Given the description of an element on the screen output the (x, y) to click on. 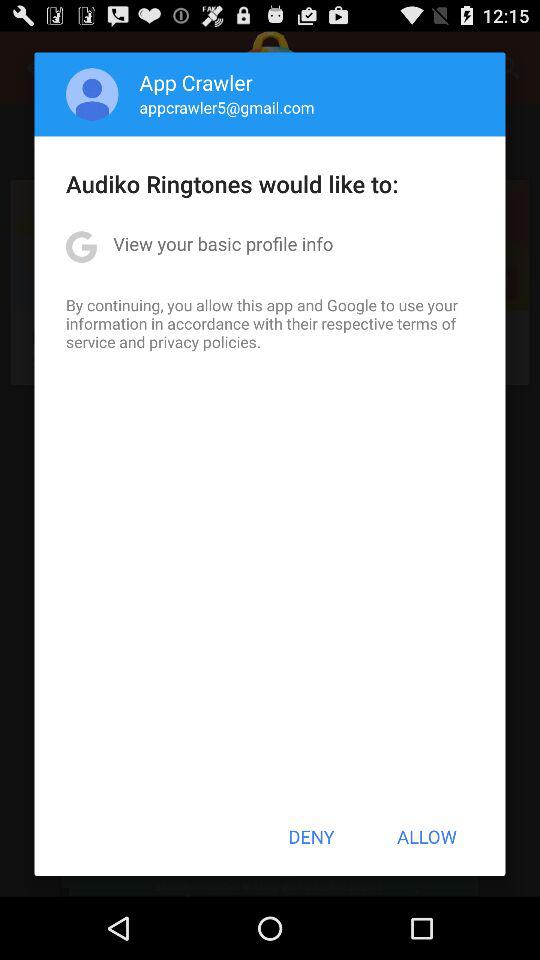
open icon above the audiko ringtones would icon (226, 107)
